Given the description of an element on the screen output the (x, y) to click on. 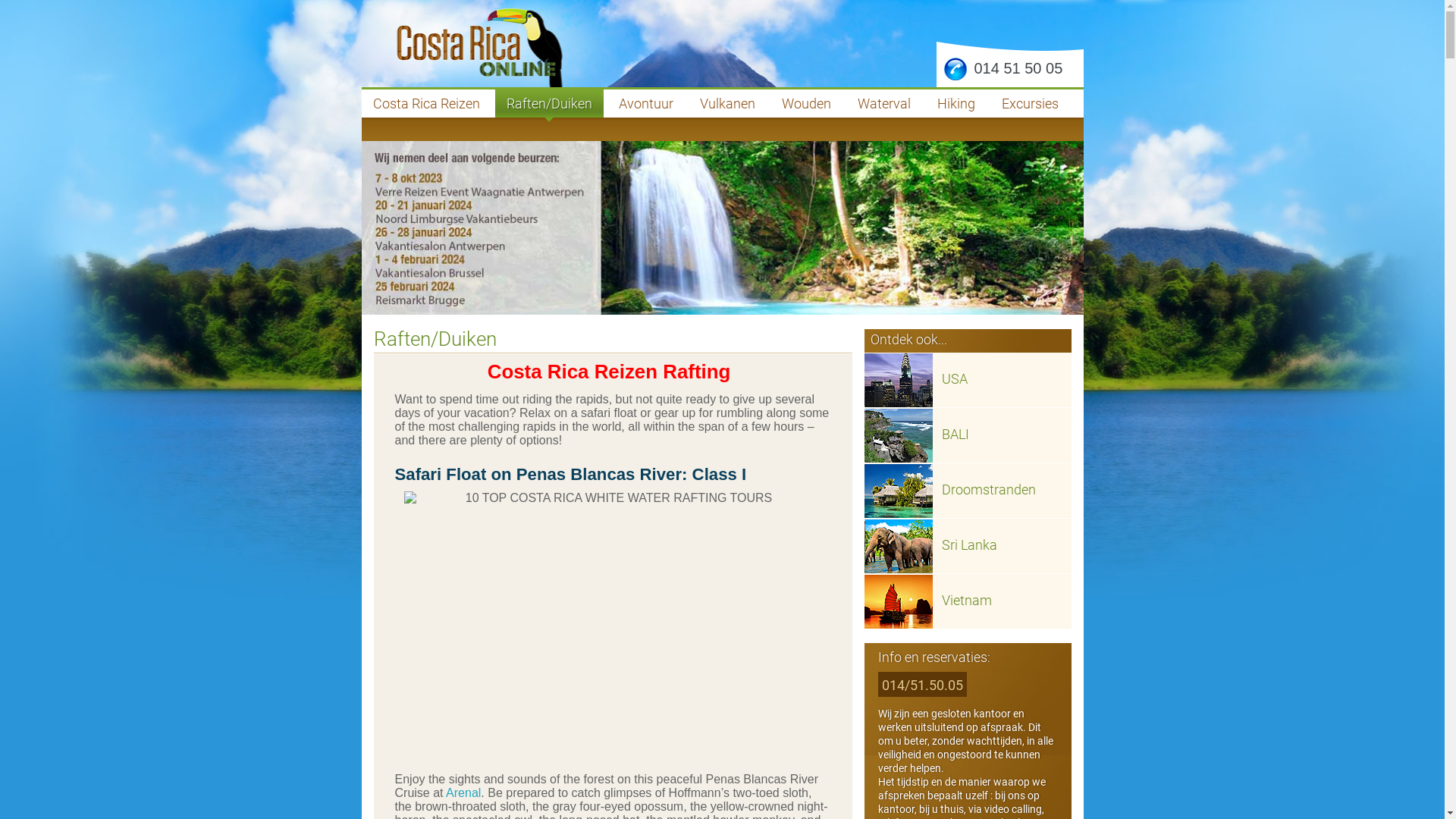
Waterval Element type: text (884, 103)
Sri Lanka Element type: text (969, 544)
BALI Element type: text (955, 434)
Hiking Element type: text (955, 103)
Droomstranden Element type: text (988, 489)
Raften/Duiken Element type: text (548, 103)
USA Element type: text (954, 378)
Raften/Duiken Element type: text (434, 338)
Wouden Element type: text (806, 103)
Vulkanen Element type: text (727, 103)
Avontuur Element type: text (645, 103)
Excursies Element type: text (1030, 103)
Vietnam Element type: text (966, 600)
Costa Rica Reizen Element type: text (425, 103)
